Given the description of an element on the screen output the (x, y) to click on. 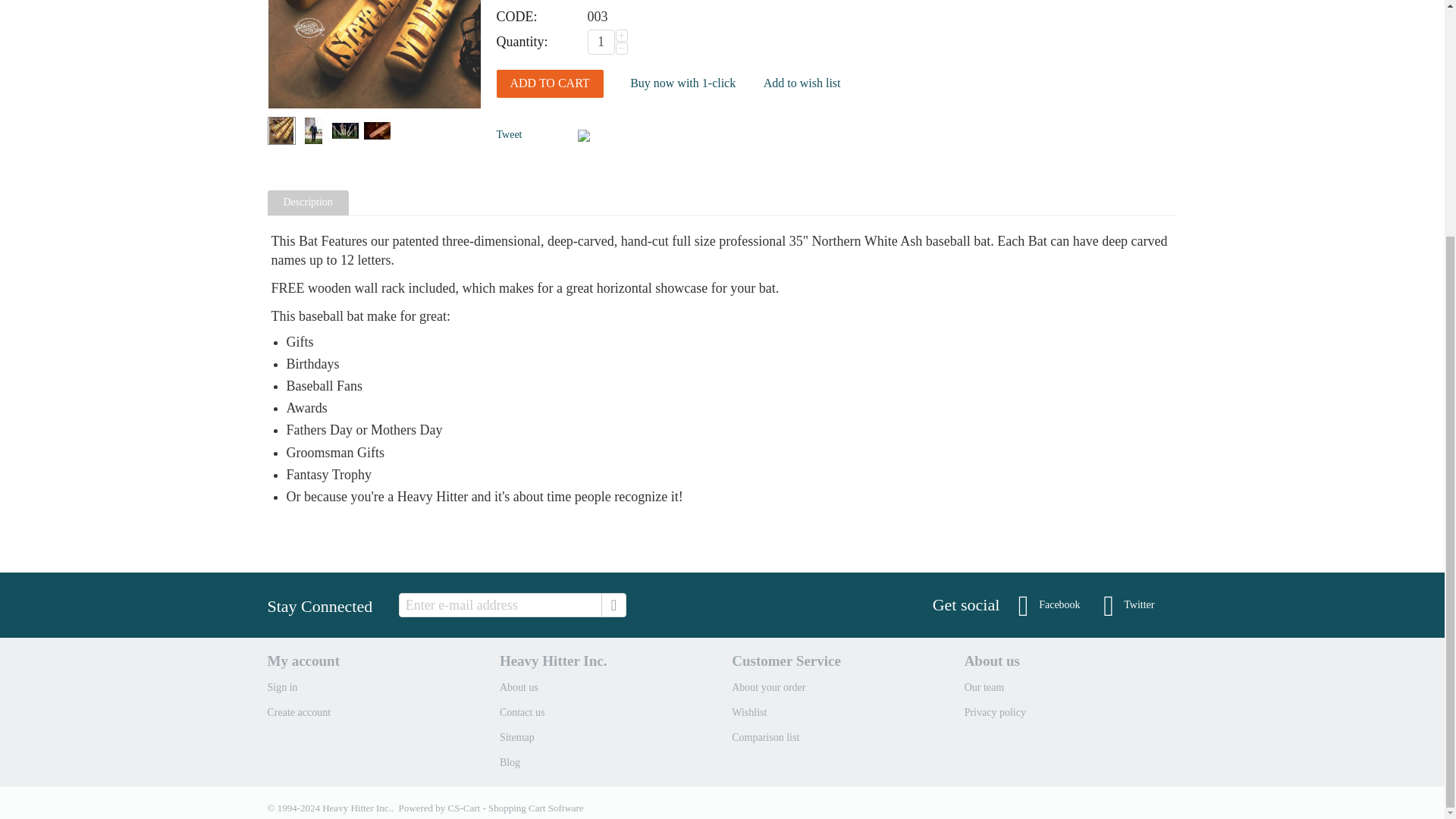
Tweet (508, 134)
Create account (298, 712)
Best Man Lifestyle bat with Laser Personalization (312, 130)
About us (518, 686)
Groomsman Bat Group Lifestyle Photo (344, 130)
1 (600, 41)
Close Up Best Man Bat with Laser Personalization (377, 130)
Twitter (1128, 605)
Go (613, 604)
Contact us (521, 712)
Facebook (1048, 605)
Buy now with 1-click (682, 83)
Sign in (281, 686)
ADD TO CART (549, 83)
Description (309, 202)
